Given the description of an element on the screen output the (x, y) to click on. 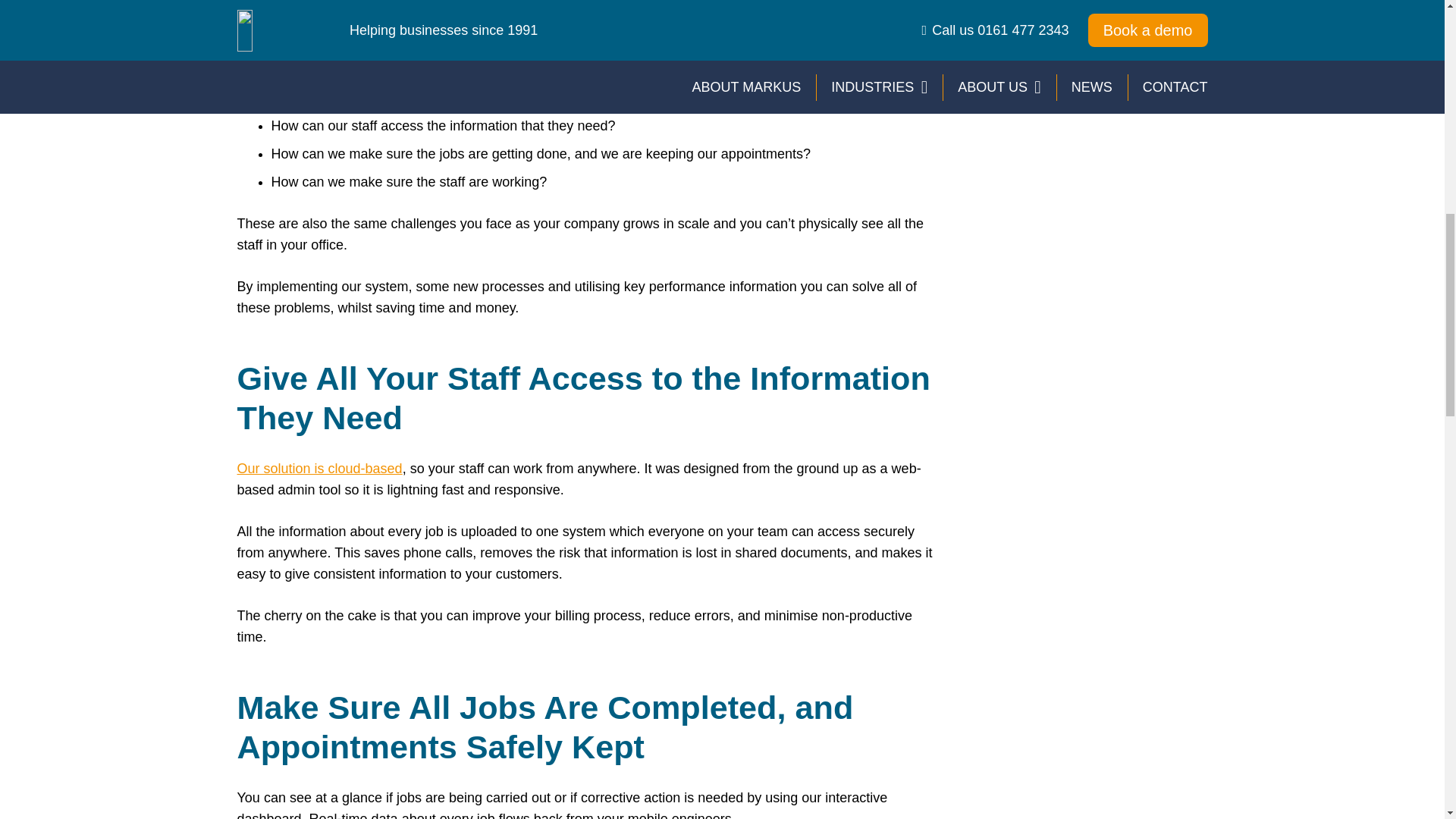
Back to top (1413, 26)
Our solution is cloud-based (318, 468)
